Given the description of an element on the screen output the (x, y) to click on. 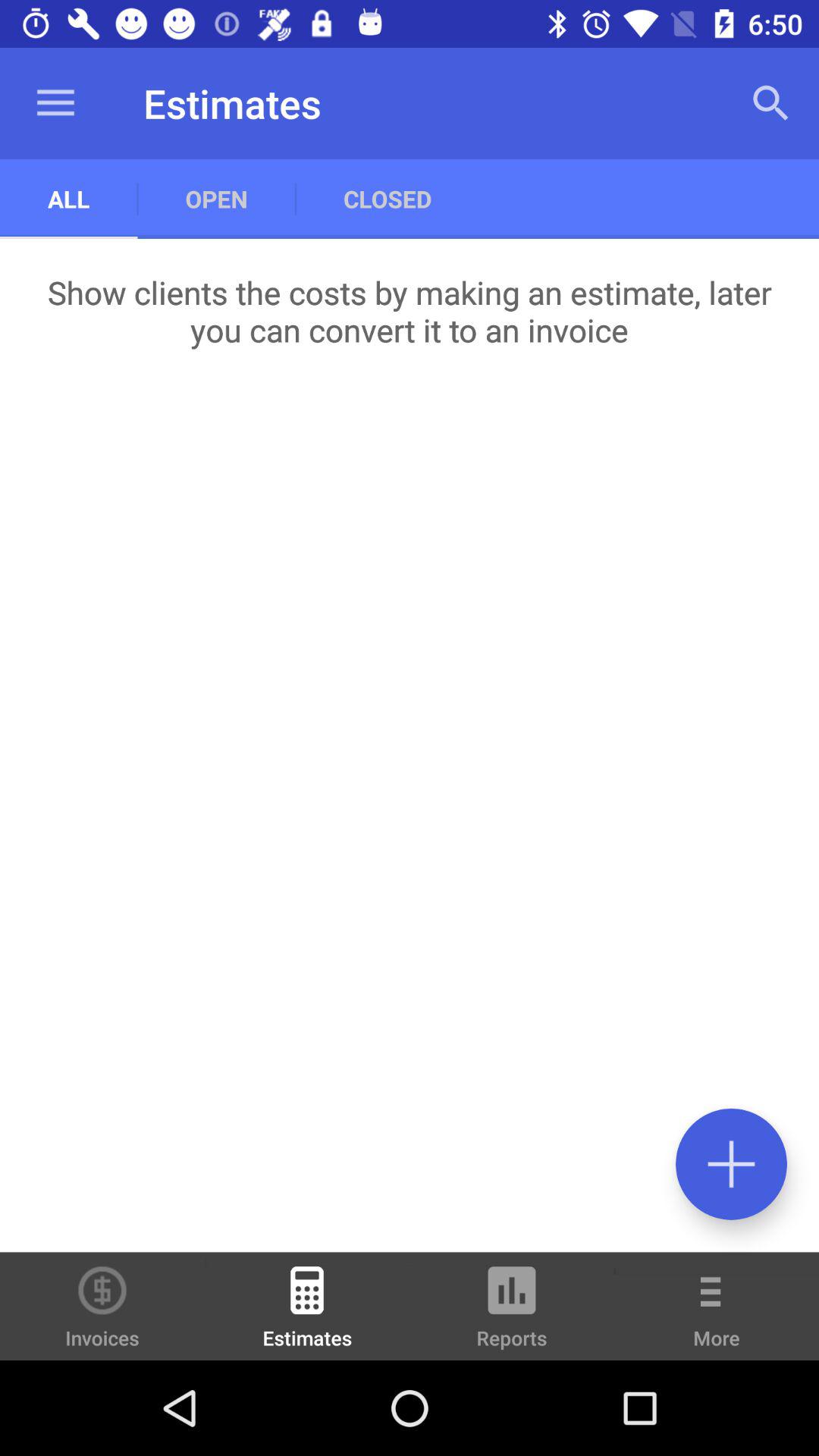
tap item next to open app (68, 198)
